Given the description of an element on the screen output the (x, y) to click on. 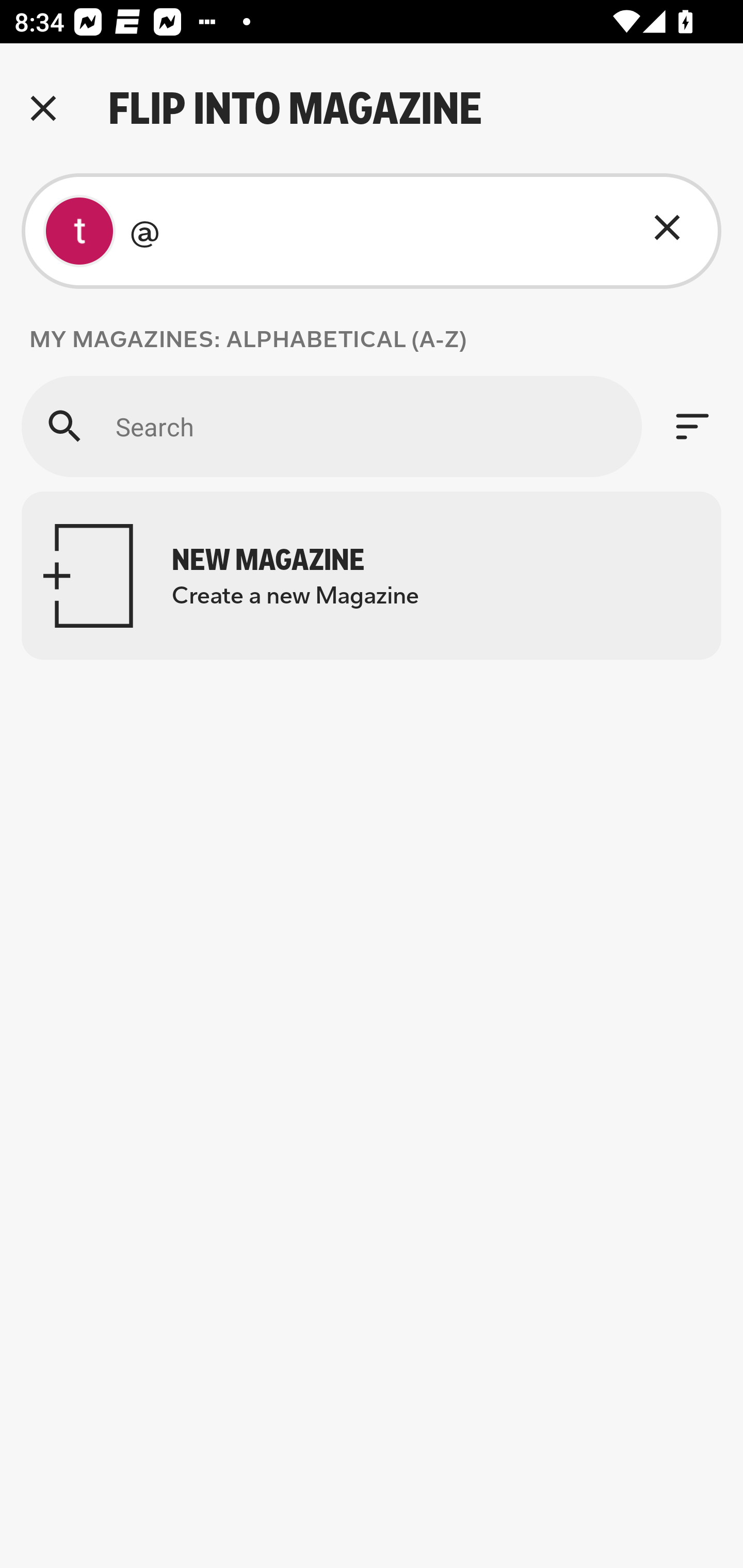
test appium @ (371, 231)
Search (331, 426)
NEW MAGAZINE Create a new Magazine (371, 575)
